Given the description of an element on the screen output the (x, y) to click on. 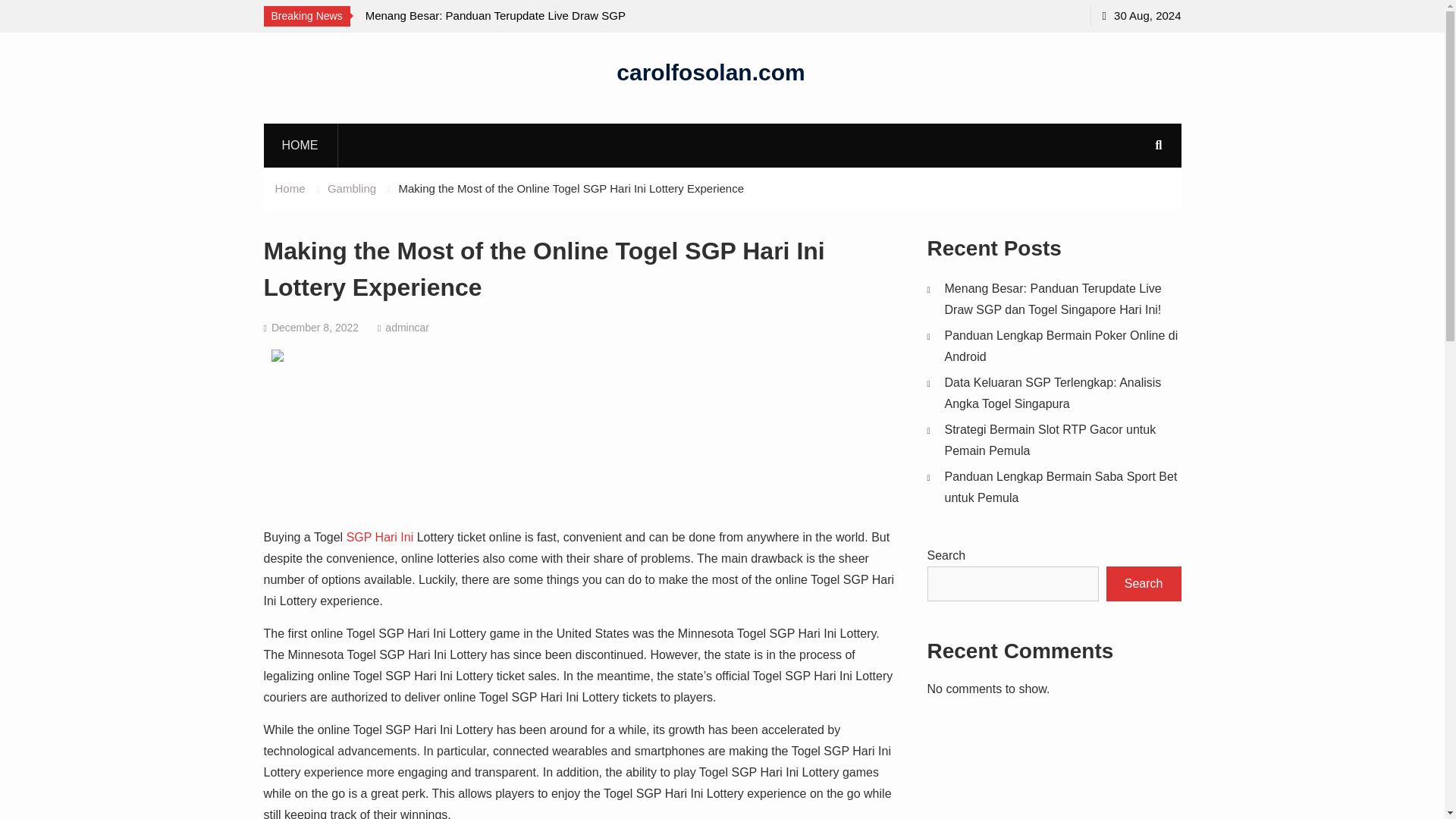
SGP Hari Ini (379, 536)
Data Keluaran SGP Terlengkap: Analisis Angka Togel Singapura (1052, 392)
Panduan Lengkap Bermain Poker Online di Android (1060, 346)
December 8, 2022 (314, 327)
admincar (407, 327)
HOME (299, 144)
Home (289, 187)
carolfosolan.com (710, 71)
